Given the description of an element on the screen output the (x, y) to click on. 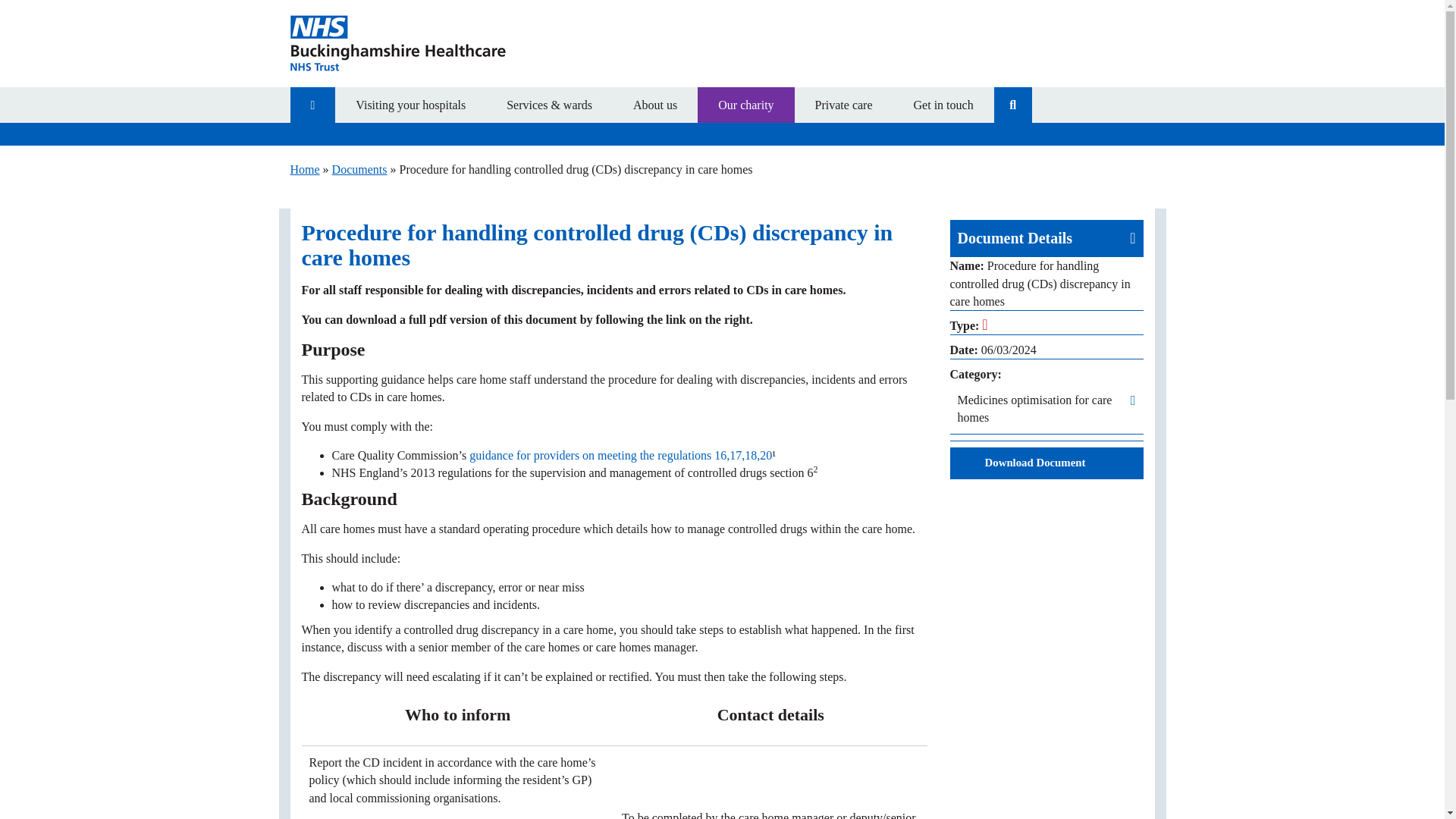
Get in touch (943, 104)
Home (311, 104)
Documents (359, 169)
Buckinghamshire Healthcare NHS Trust (425, 43)
Home (303, 169)
Visiting your hospitals (410, 104)
Private care (843, 104)
About us (654, 104)
Medicines optimisation for care homes (1045, 409)
